Given the description of an element on the screen output the (x, y) to click on. 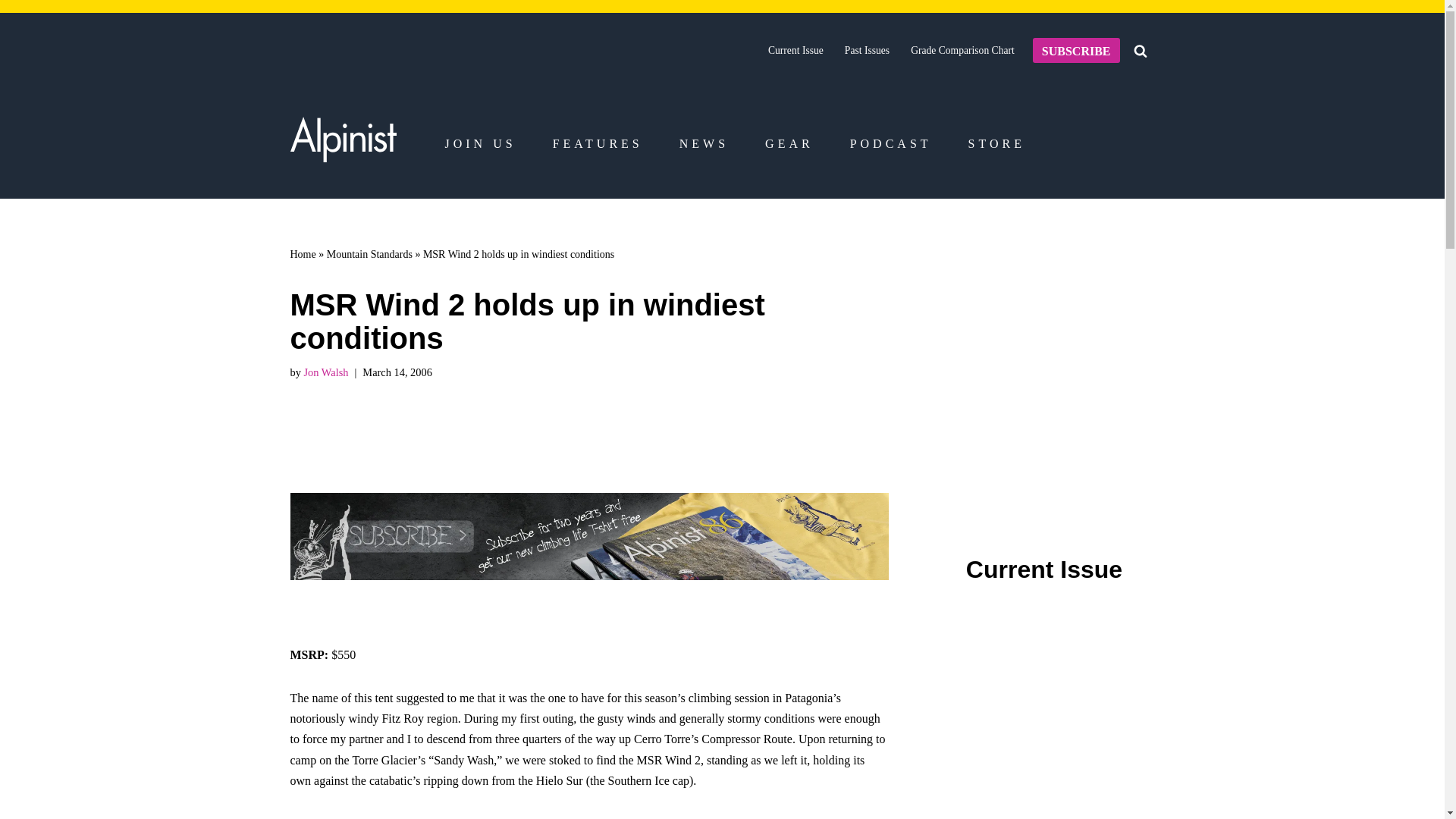
Posts by Jon Walsh (324, 372)
PODCAST (890, 143)
3rd party ad content (1047, 361)
GEAR (789, 143)
STORE (996, 143)
Home (302, 254)
Grade Comparison Chart (962, 49)
Skip to content (11, 31)
FEATURES (598, 143)
Jon Walsh (324, 372)
3rd party ad content (1044, 762)
NEWS (704, 143)
JOIN US (479, 143)
Current Issue (796, 49)
SUBSCRIBE (1075, 50)
